Given the description of an element on the screen output the (x, y) to click on. 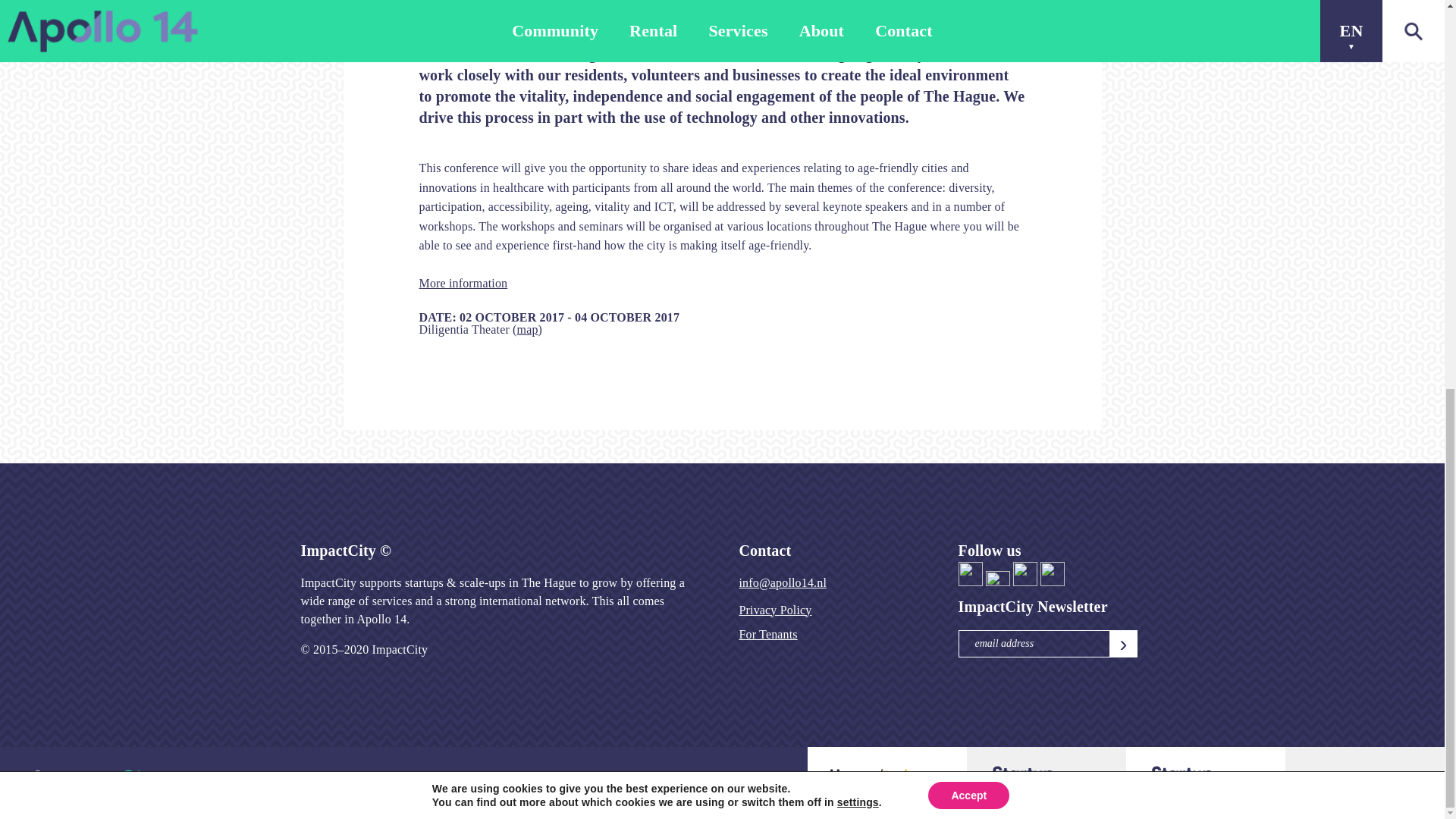
map (527, 328)
Accept (968, 55)
Privacy Policy (774, 609)
settings (858, 62)
For Tenants (767, 634)
More information (462, 282)
